Given the description of an element on the screen output the (x, y) to click on. 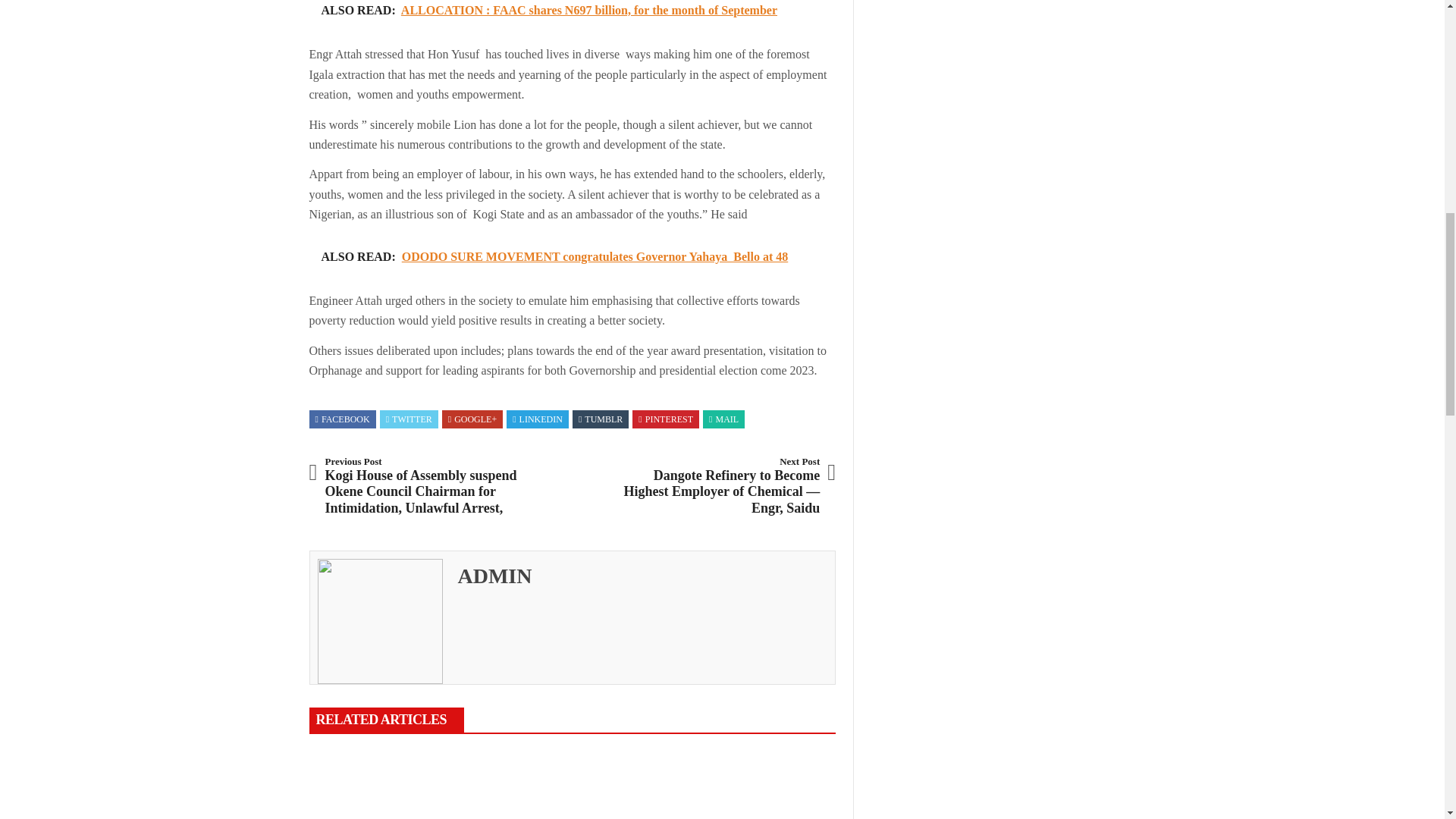
Tumblr (600, 419)
Facebook (342, 419)
Twitter (408, 419)
Google Plus (472, 419)
LinkedIn (537, 419)
Pinterest (666, 419)
